Given the description of an element on the screen output the (x, y) to click on. 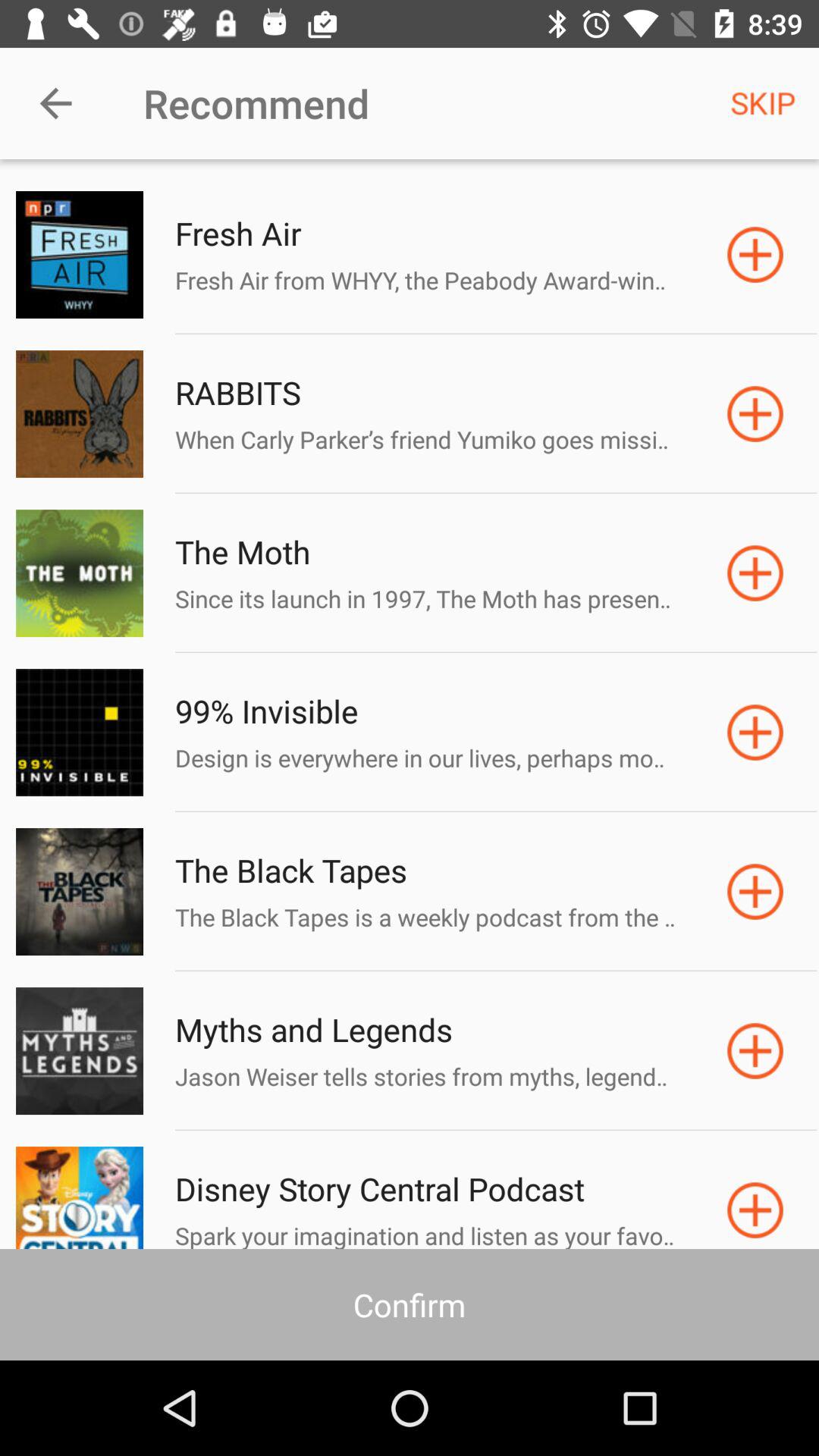
turn on the item to the right of recommend (763, 103)
